Given the description of an element on the screen output the (x, y) to click on. 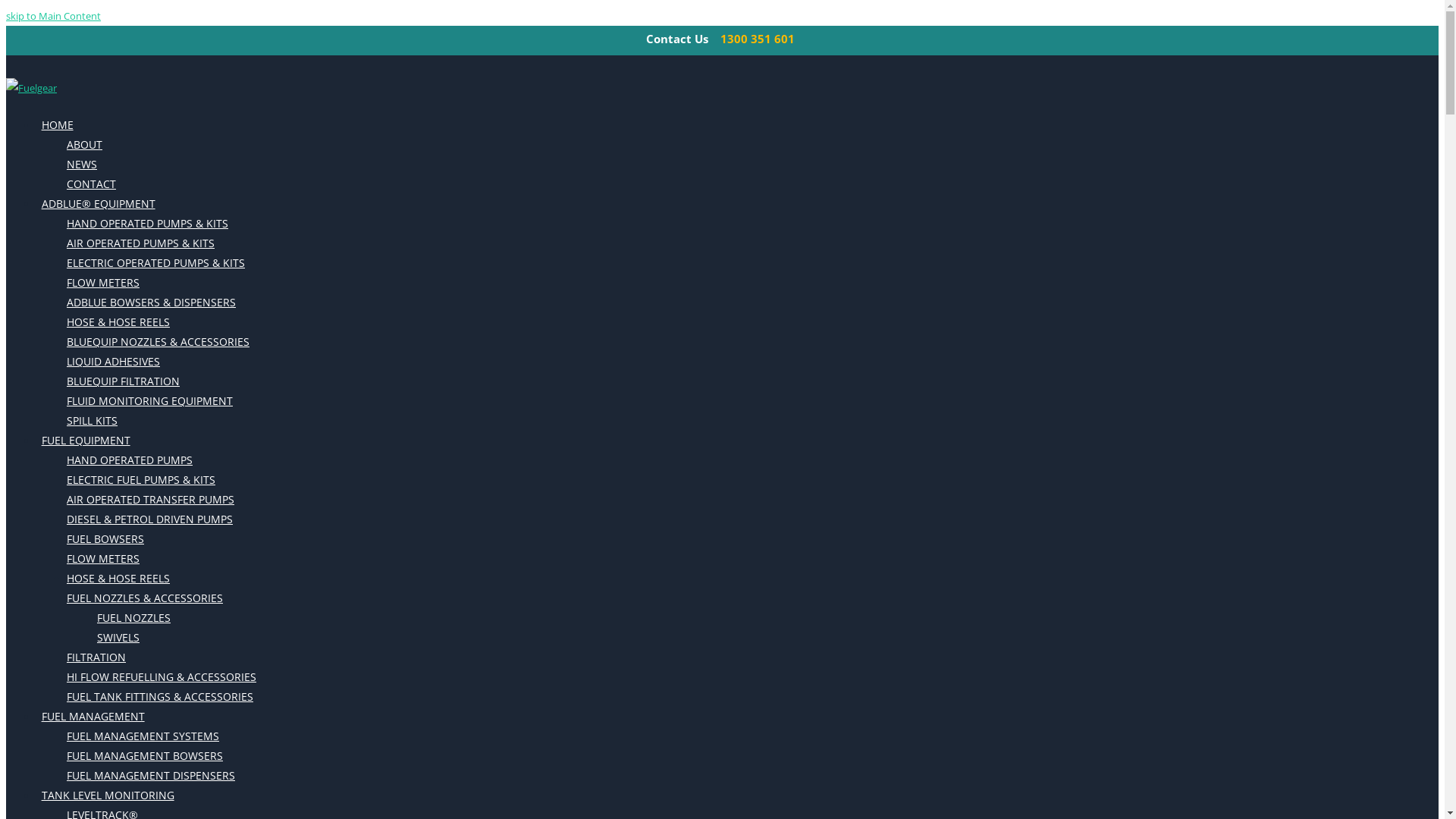
HAND OPERATED PUMPS & KITS Element type: text (147, 223)
HI FLOW REFUELLING & ACCESSORIES Element type: text (161, 677)
BLUEQUIP FILTRATION Element type: text (122, 381)
FUEL NOZZLES & ACCESSORIES Element type: text (144, 598)
FLOW METERS Element type: text (102, 282)
ABOUT Element type: text (84, 144)
HOSE & HOSE REELS Element type: text (117, 578)
CONTACT Element type: text (91, 184)
BLUEQUIP NOZZLES & ACCESSORIES Element type: text (157, 341)
FUEL MANAGEMENT SYSTEMS Element type: text (142, 736)
FUEL BOWSERS Element type: text (105, 539)
DIESEL & PETROL DRIVEN PUMPS Element type: text (149, 519)
FUEL TANK FITTINGS & ACCESSORIES Element type: text (159, 696)
HAND OPERATED PUMPS Element type: text (129, 460)
AIR OPERATED TRANSFER PUMPS Element type: text (150, 499)
ELECTRIC FUEL PUMPS & KITS Element type: text (140, 479)
LIQUID ADHESIVES Element type: text (113, 361)
HOME Element type: text (57, 124)
FUEL NOZZLES Element type: text (133, 617)
ELECTRIC OPERATED PUMPS & KITS Element type: text (155, 262)
FUEL MANAGEMENT Element type: text (92, 716)
1300 351 601 Element type: text (757, 38)
SPILL KITS Element type: text (91, 420)
ADBLUE BOWSERS & DISPENSERS Element type: text (150, 302)
FILTRATION Element type: text (95, 657)
NEWS Element type: text (81, 164)
FUEL MANAGEMENT DISPENSERS Element type: text (150, 775)
AIR OPERATED PUMPS & KITS Element type: text (140, 243)
FUEL MANAGEMENT BOWSERS Element type: text (144, 755)
FLOW METERS Element type: text (102, 558)
HOSE & HOSE REELS Element type: text (117, 322)
TANK LEVEL MONITORING Element type: text (107, 795)
SWIVELS Element type: text (118, 637)
FUEL EQUIPMENT Element type: text (85, 440)
FLUID MONITORING EQUIPMENT Element type: text (149, 400)
skip to Main Content Element type: text (53, 15)
